Given the description of an element on the screen output the (x, y) to click on. 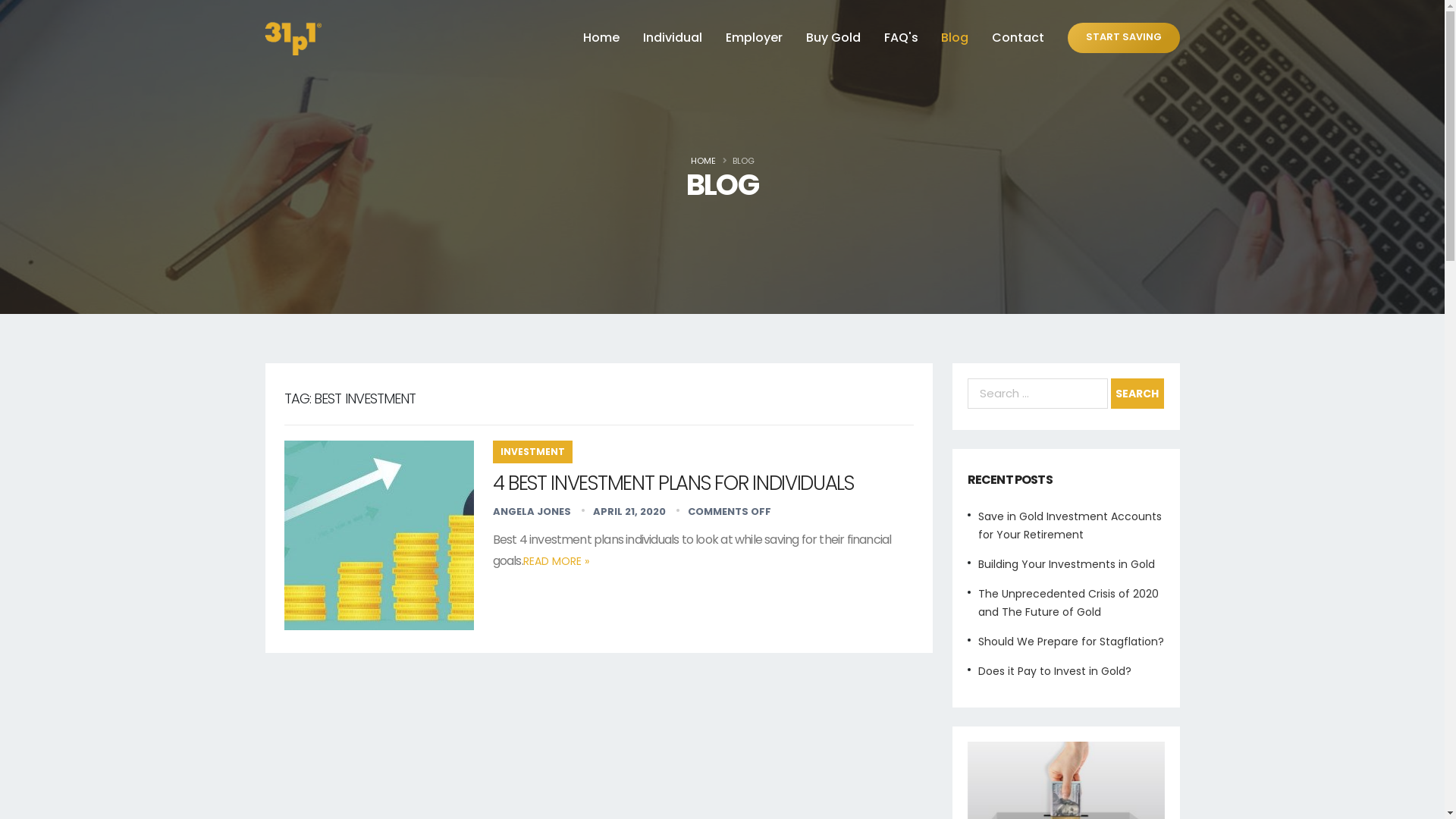
The Unprecedented Crisis of 2020 and The Future of Gold Element type: text (1068, 602)
Should We Prepare for Stagflation? Element type: text (1071, 641)
Does it Pay to Invest in Gold? Element type: text (1054, 670)
HOME Element type: text (702, 160)
Search Element type: text (1136, 393)
Building Your Investments in Gold Element type: text (1066, 563)
ANGELA JONES Element type: text (531, 510)
INVESTMENT Element type: text (532, 451)
4 BEST INVESTMENT PLANS FOR INDIVIDUALS Element type: text (672, 482)
Save in Gold Investment Accounts for Your Retirement Element type: text (1069, 525)
